Given the description of an element on the screen output the (x, y) to click on. 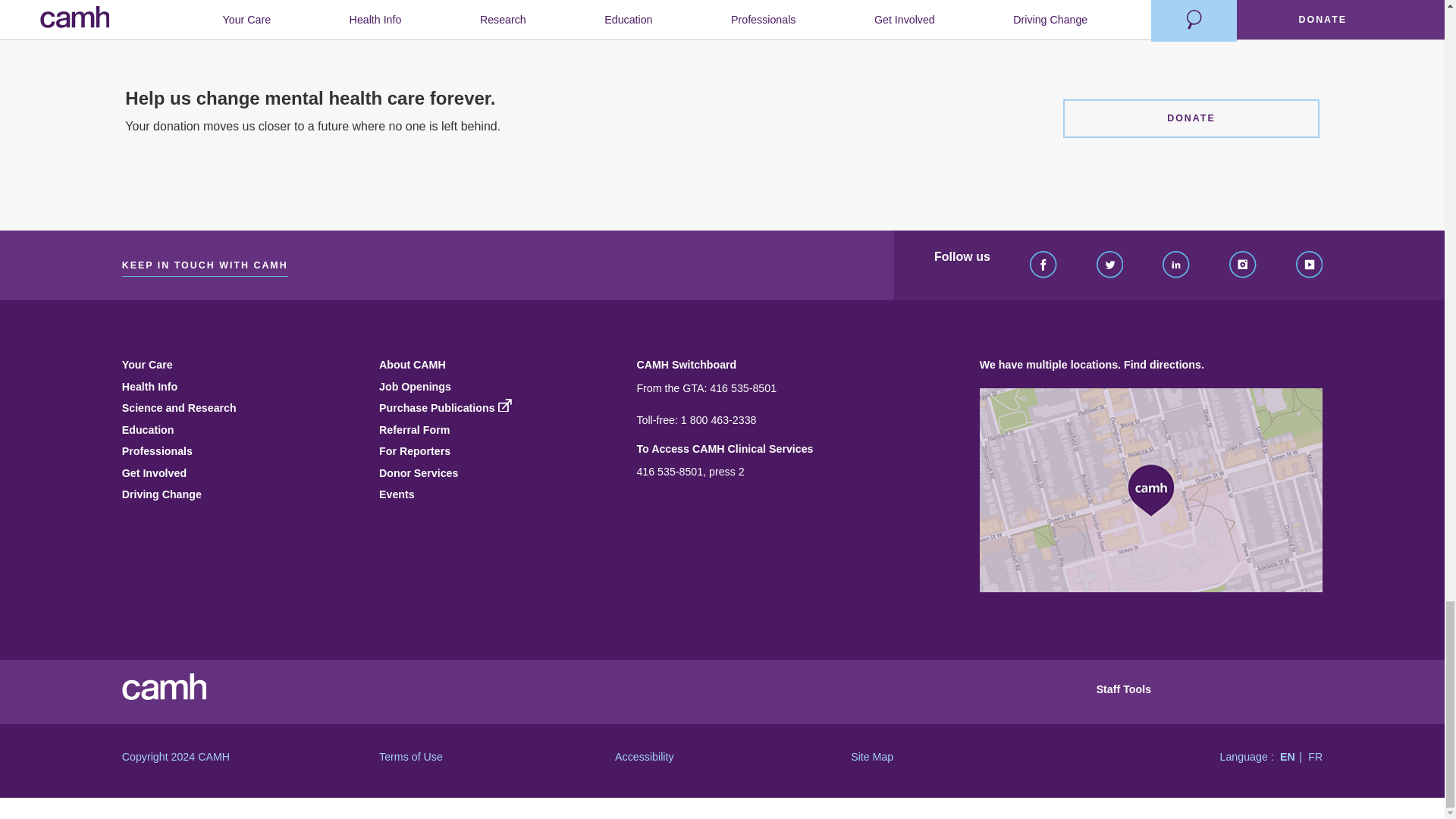
Twitter (1110, 265)
Instagram (1242, 265)
YouTube (1309, 265)
LinkedIn (1175, 265)
Map of CAMH's Queen Street Site (1150, 490)
Facebook (1043, 265)
